Given the description of an element on the screen output the (x, y) to click on. 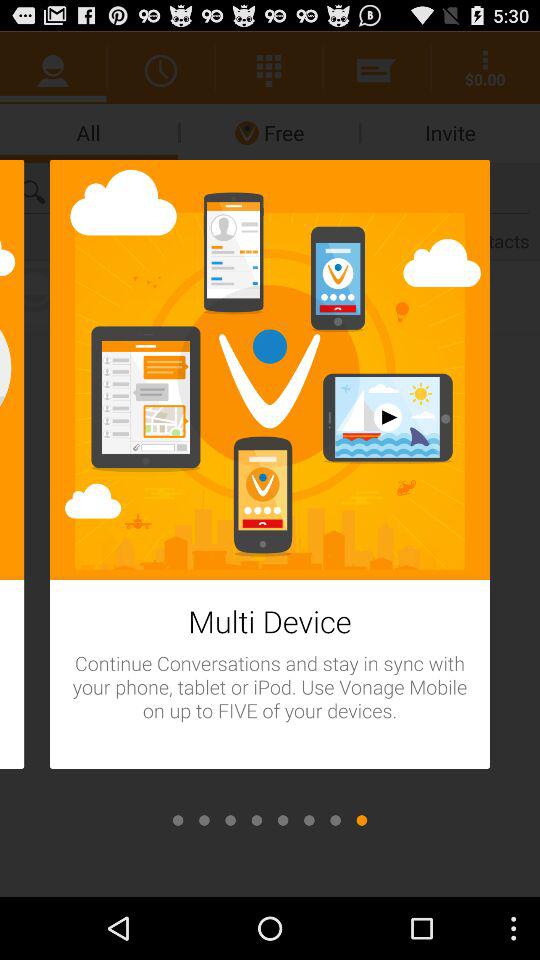
go to page 4 (256, 820)
